Given the description of an element on the screen output the (x, y) to click on. 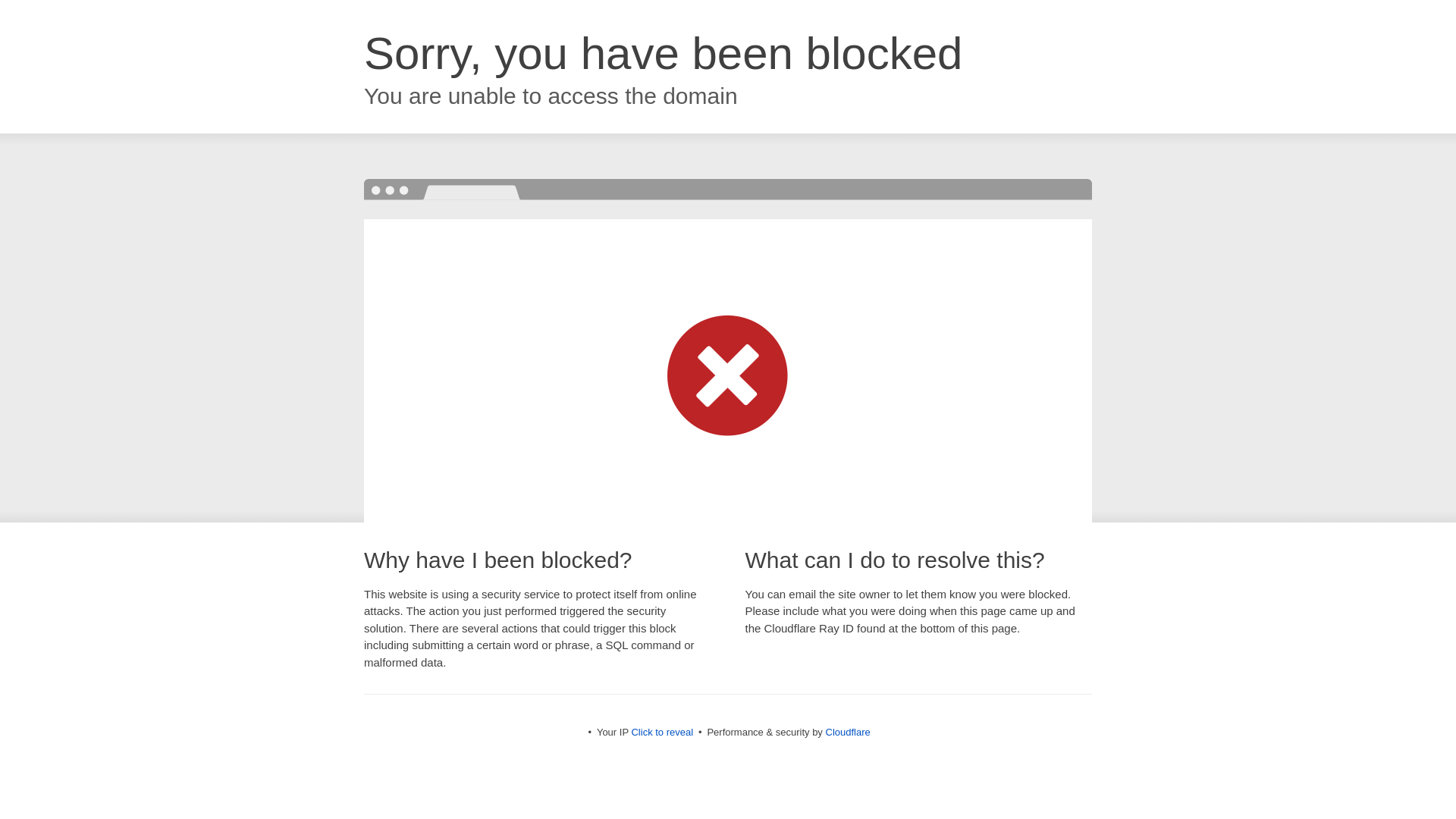
Click to reveal (661, 731)
Cloudflare (847, 731)
